Given the description of an element on the screen output the (x, y) to click on. 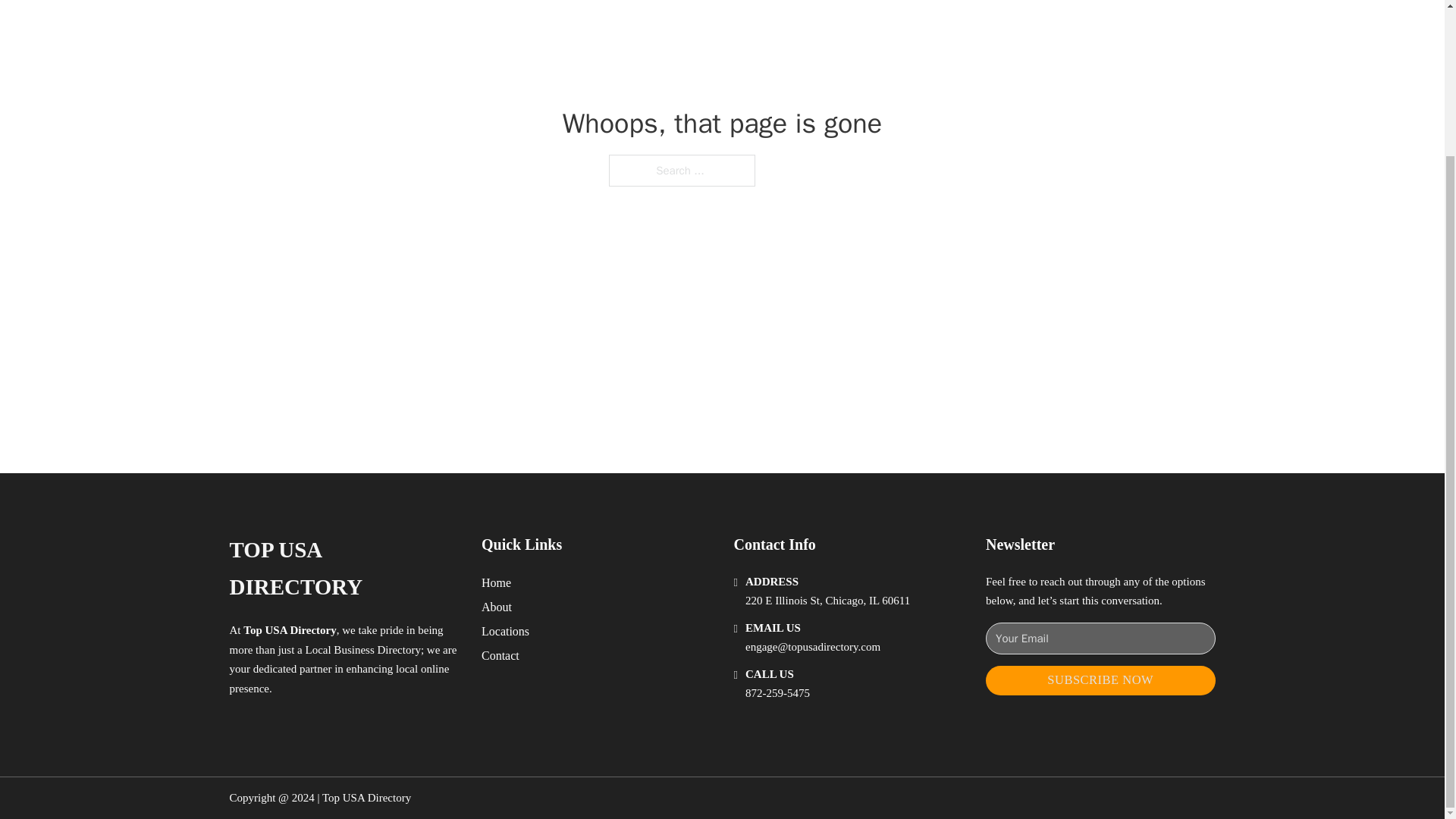
About (496, 607)
Home (496, 582)
Contact (500, 655)
872-259-5475 (777, 693)
Locations (505, 630)
SUBSCRIBE NOW (1100, 680)
TOP USA DIRECTORY (343, 568)
